Given the description of an element on the screen output the (x, y) to click on. 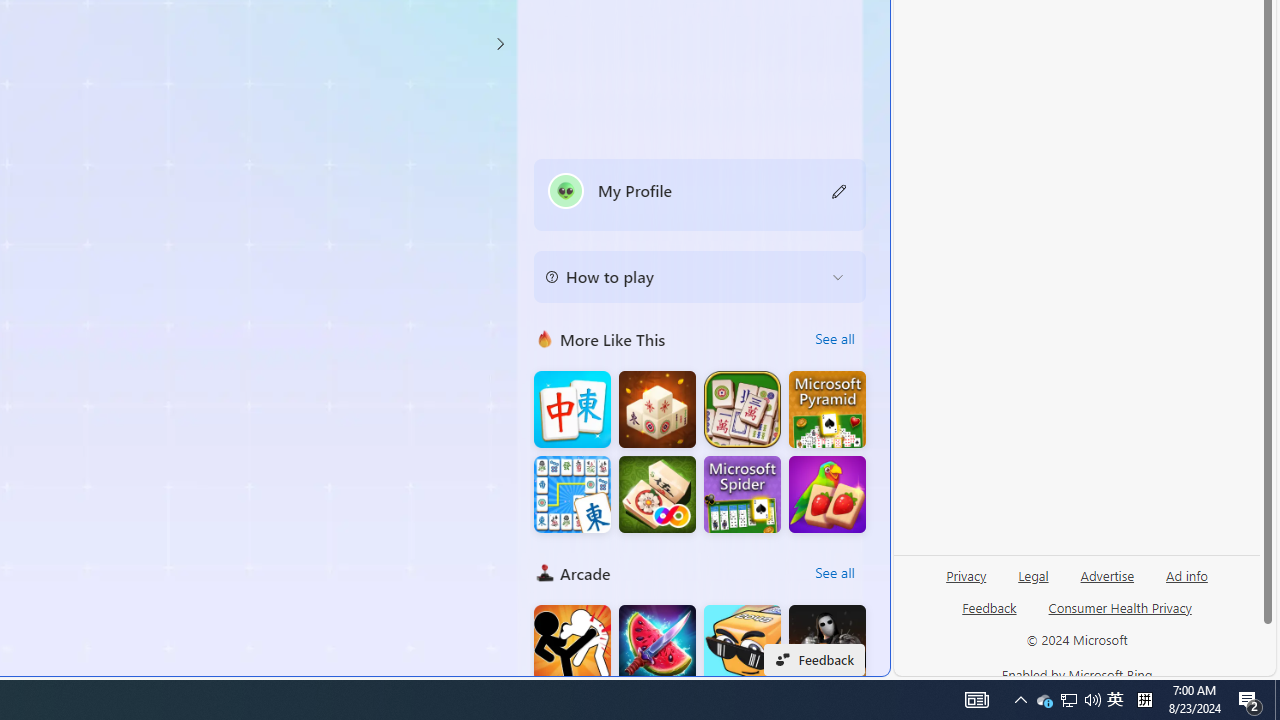
Arcade (544, 572)
See all (834, 572)
""'s avatar (565, 190)
Mahjong FRVR (657, 494)
Microsoft Pyramid Solitaire (827, 409)
Class: button edit-icon (839, 190)
More Like This (544, 338)
Stickman Fighter : Mega Brawl (571, 643)
Cubes2048 (742, 643)
